Given the description of an element on the screen output the (x, y) to click on. 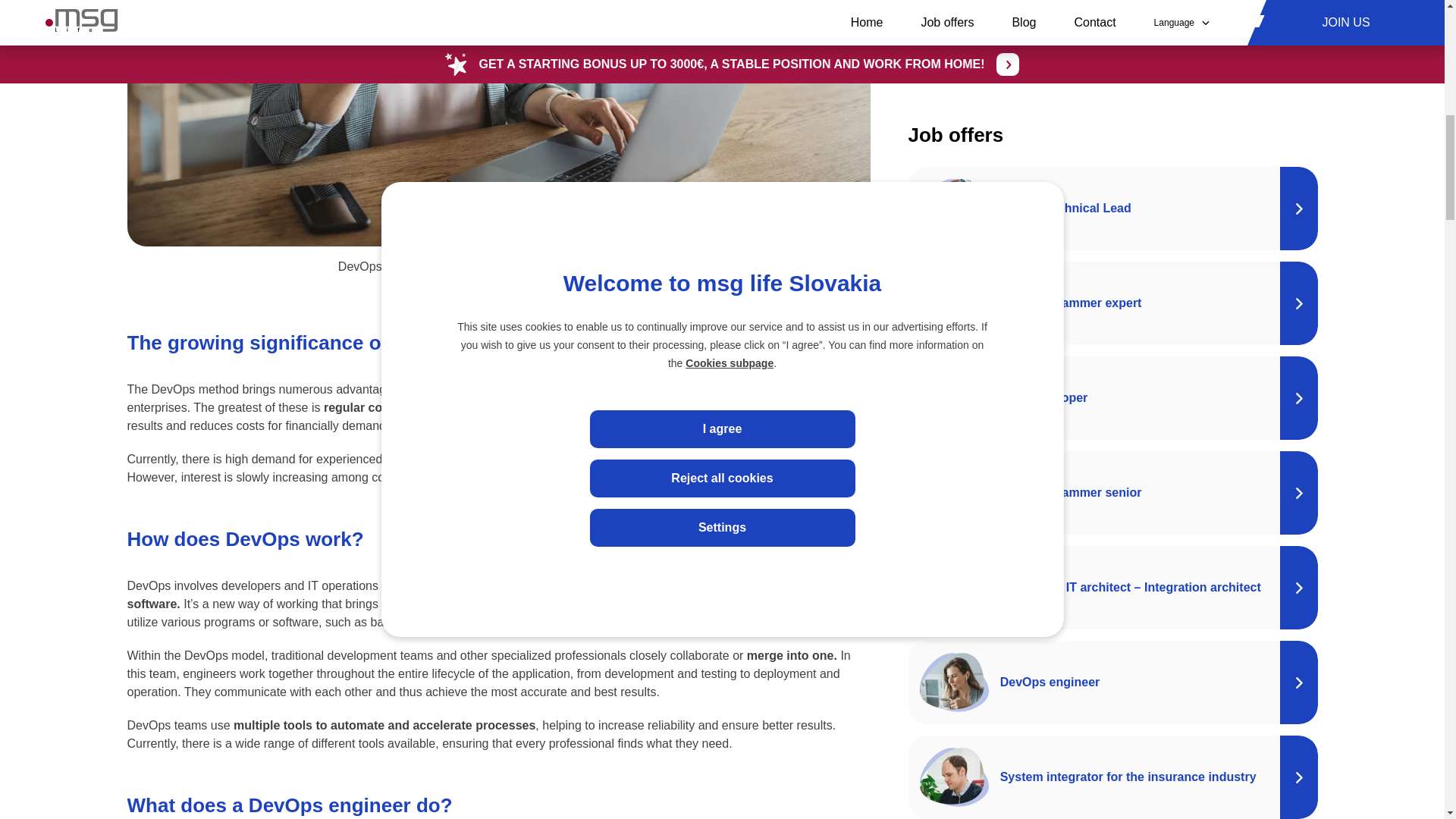
Send (1052, 583)
